Given the description of an element on the screen output the (x, y) to click on. 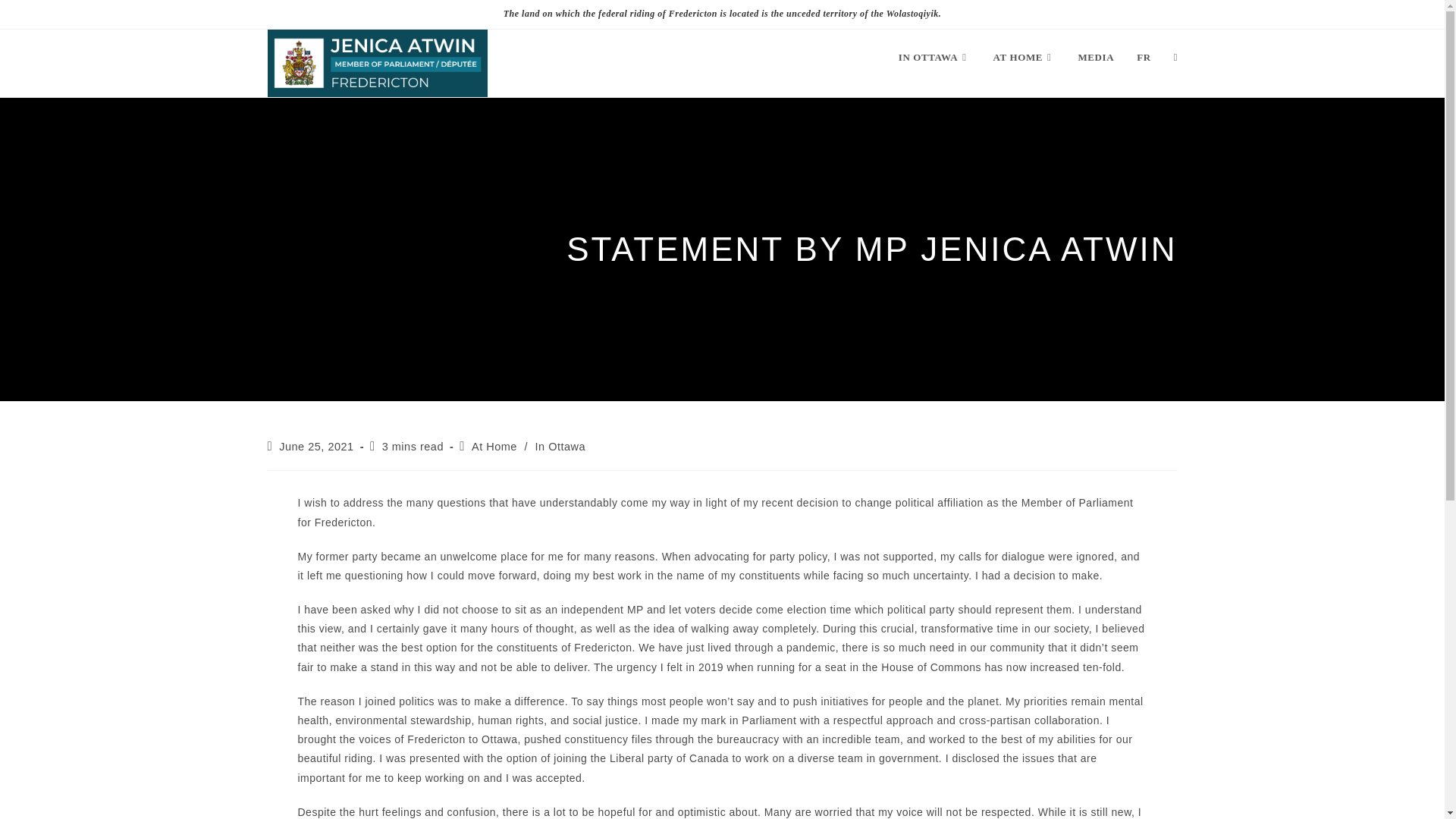
In Ottawa (560, 446)
IN OTTAWA (933, 57)
At Home (493, 446)
MEDIA (1095, 57)
AT HOME (1024, 57)
